Given the description of an element on the screen output the (x, y) to click on. 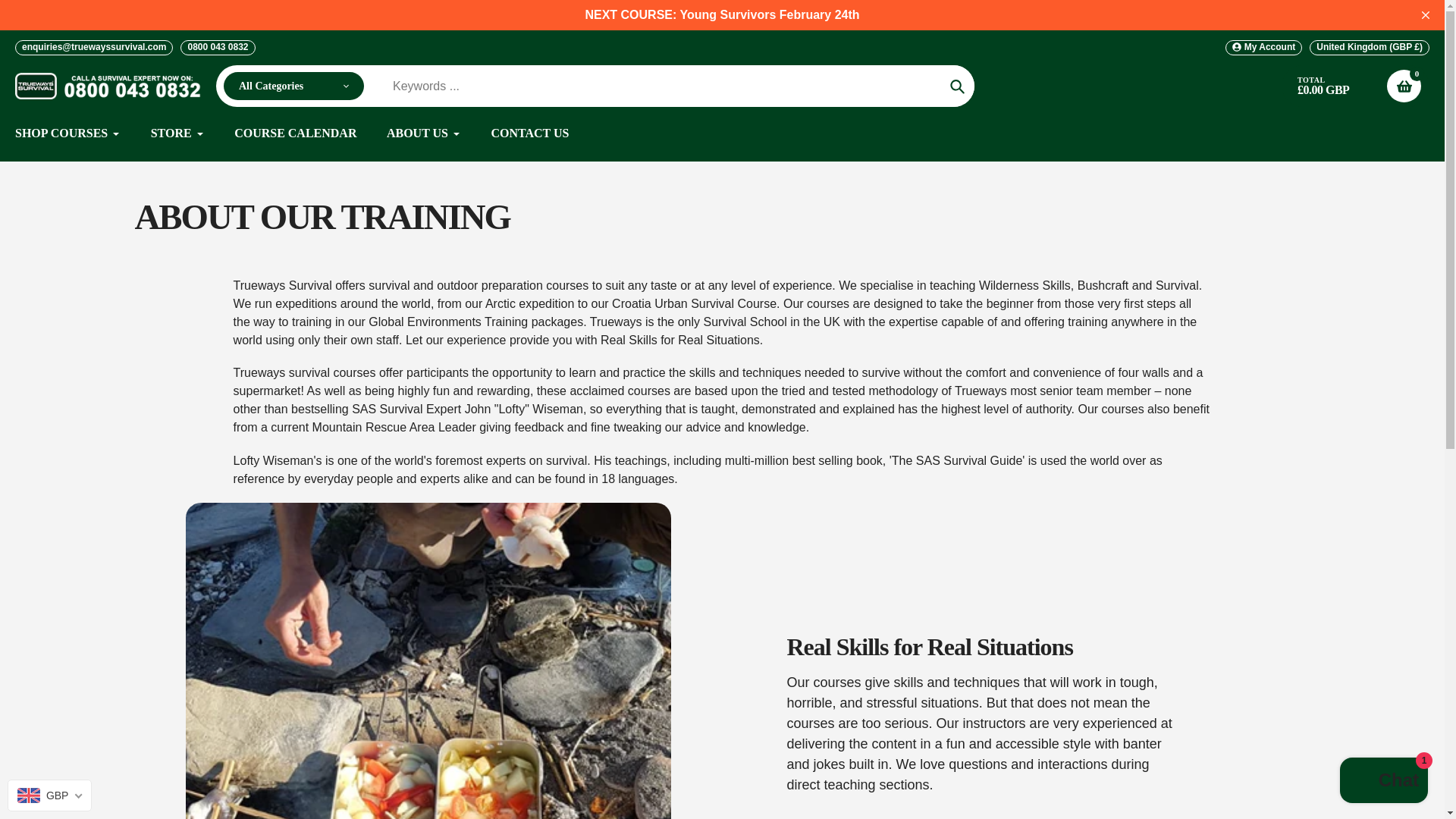
NEXT COURSE: Young Survivors February 24th (722, 14)
Shopify online store chat (1383, 781)
My Account (1263, 47)
0800 043 0832 (217, 47)
